Given the description of an element on the screen output the (x, y) to click on. 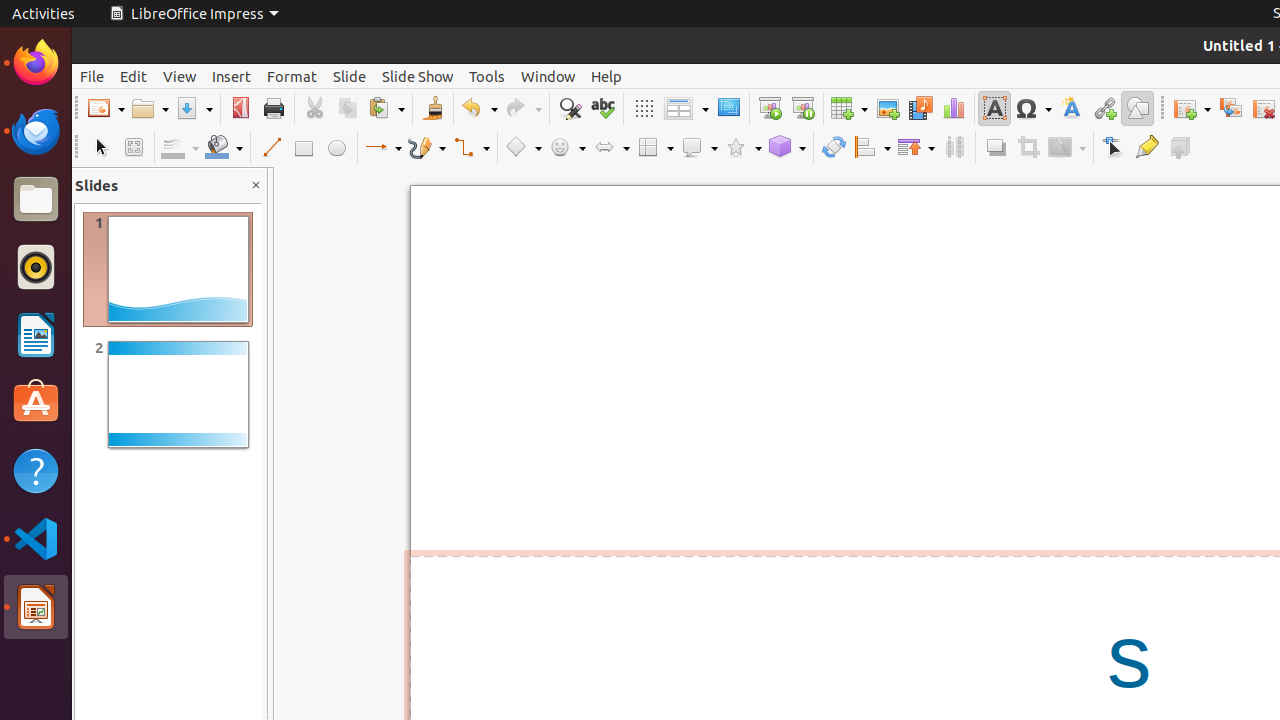
Display Views Element type: push-button (686, 109)
Fontwork Style Element type: toggle-button (1071, 108)
Insert Element type: menu (231, 76)
Lines and Arrows Element type: push-button (383, 147)
